Given the description of an element on the screen output the (x, y) to click on. 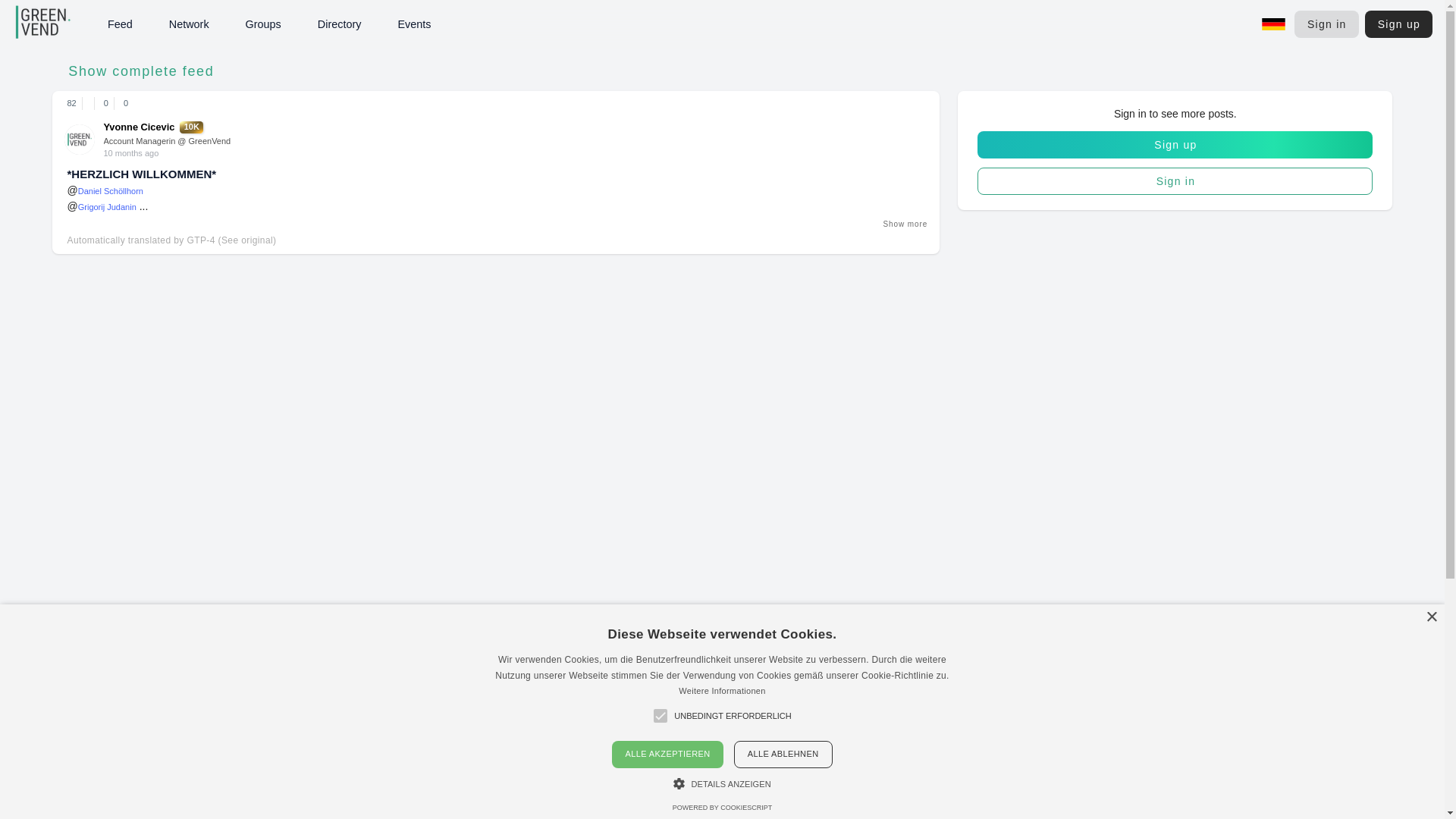
Directory (375, 24)
04.10.2023 - 13:21 (130, 153)
Events (448, 24)
Feed (155, 24)
Grigorij Judanin (107, 206)
german language flag (1273, 24)
Sign up (1398, 23)
Show more (904, 224)
GreenVend Logo (63, 24)
Sign in (1326, 23)
Sign in (1174, 180)
 Show complete feed (136, 70)
Sign up (154, 126)
Groups (1174, 144)
